Given the description of an element on the screen output the (x, y) to click on. 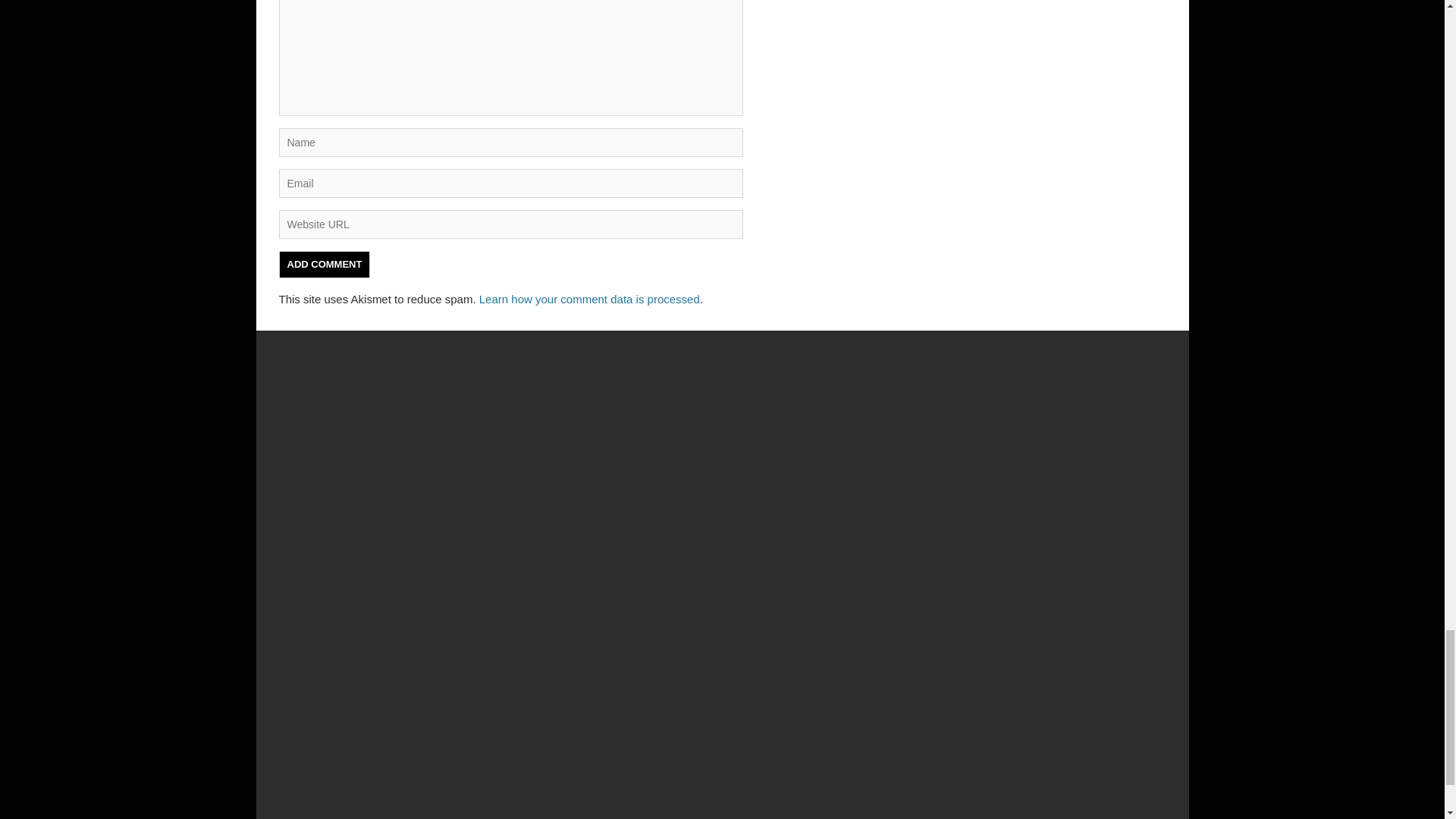
Add Comment (325, 264)
